Given the description of an element on the screen output the (x, y) to click on. 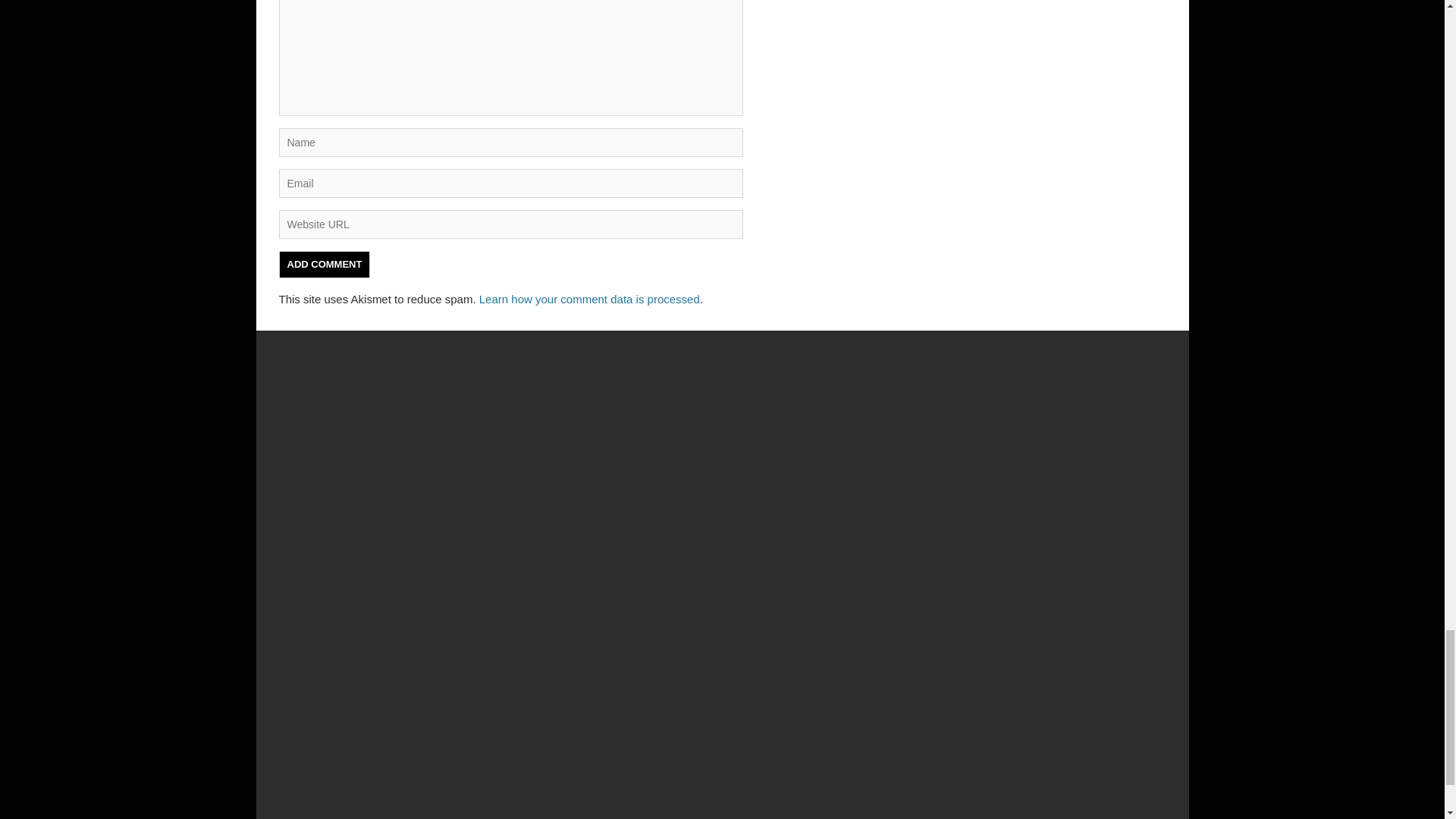
Add Comment (325, 264)
